Given the description of an element on the screen output the (x, y) to click on. 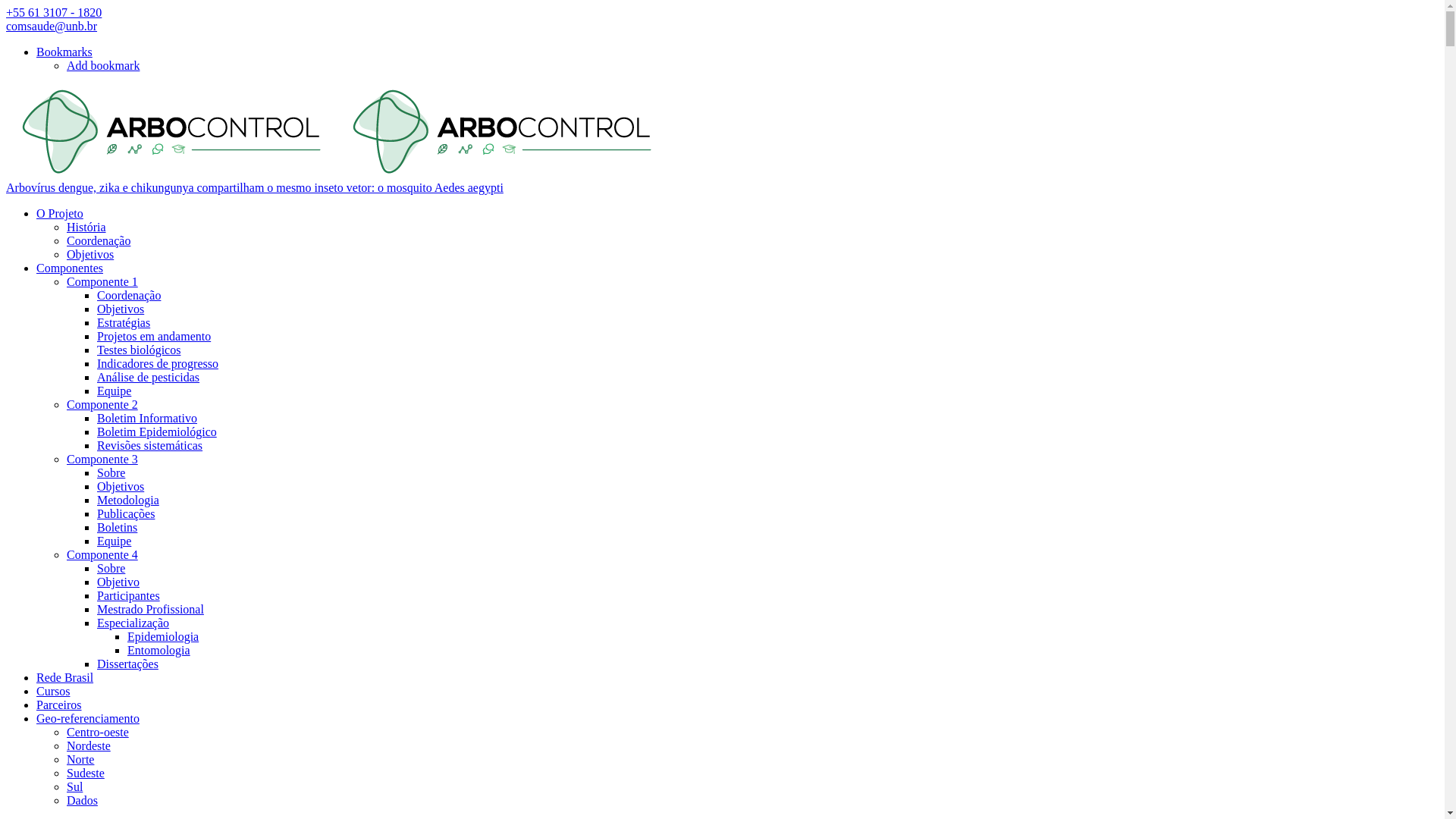
Objetivos Element type: text (89, 253)
Objetivos Element type: text (120, 486)
Mestrado Profissional Element type: text (150, 608)
Centro-oeste Element type: text (97, 731)
comsaude@unb.br Element type: text (51, 25)
Add bookmark Element type: text (102, 65)
Metodologia Element type: text (128, 499)
Componente 1 Element type: text (102, 281)
Rede Brasil Element type: text (64, 677)
O Projeto Element type: text (59, 213)
Participantes Element type: text (128, 595)
Geo-referenciamento Element type: text (87, 718)
+55 61 3107 - 1820 Element type: text (53, 12)
Sudeste Element type: text (85, 772)
Componente 2 Element type: text (102, 404)
Boletim Informativo Element type: text (147, 417)
Componentes Element type: text (69, 267)
Parceiros Element type: text (58, 704)
Sobre Element type: text (111, 472)
Indicadores de progresso Element type: text (157, 363)
Sobre Element type: text (111, 567)
Objetivos Element type: text (120, 308)
Equipe Element type: text (114, 540)
Boletins Element type: text (117, 526)
Nordeste Element type: text (88, 745)
Componente 3 Element type: text (102, 458)
Bookmarks Element type: text (64, 51)
Equipe Element type: text (114, 390)
Sul Element type: text (74, 786)
Componente 4 Element type: text (102, 554)
Epidemiologia Element type: text (162, 636)
Norte Element type: text (80, 759)
Dados Element type: text (81, 799)
Projetos em andamento Element type: text (153, 335)
Objetivo Element type: text (118, 581)
Entomologia Element type: text (158, 649)
Cursos Element type: text (52, 690)
